Given the description of an element on the screen output the (x, y) to click on. 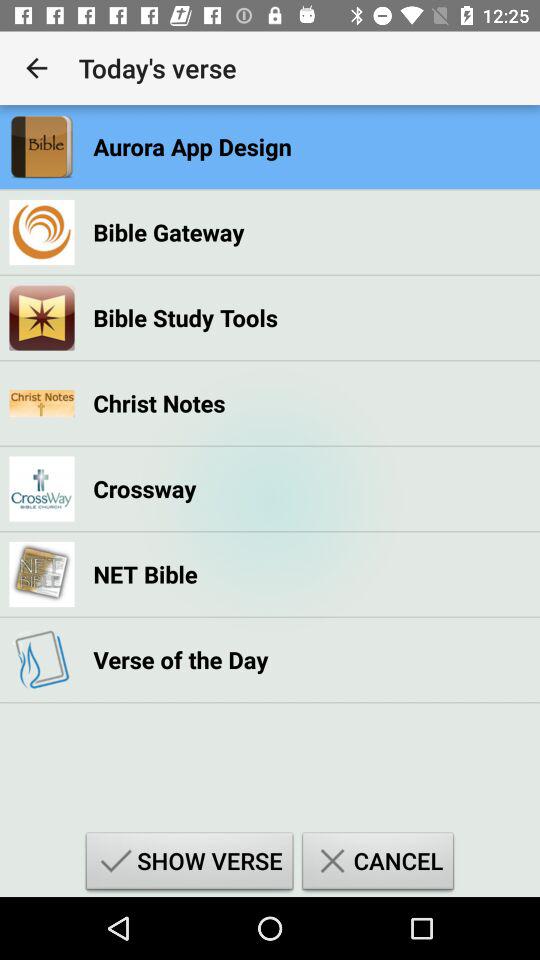
launch bible gateway item (168, 232)
